Given the description of an element on the screen output the (x, y) to click on. 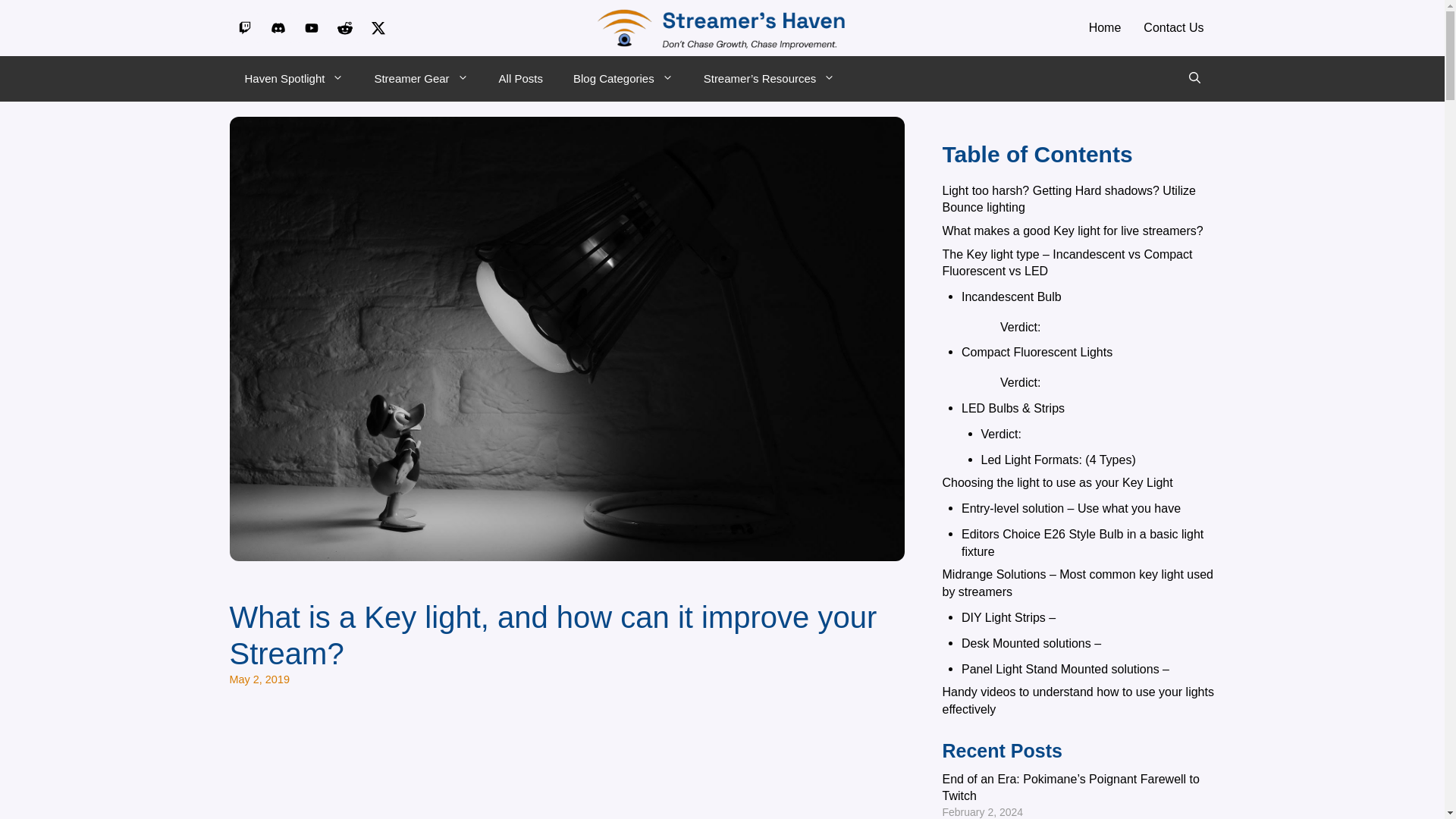
Home (1104, 27)
Boost your Webcam Quality! (566, 766)
Contact Us (1173, 27)
